Given the description of an element on the screen output the (x, y) to click on. 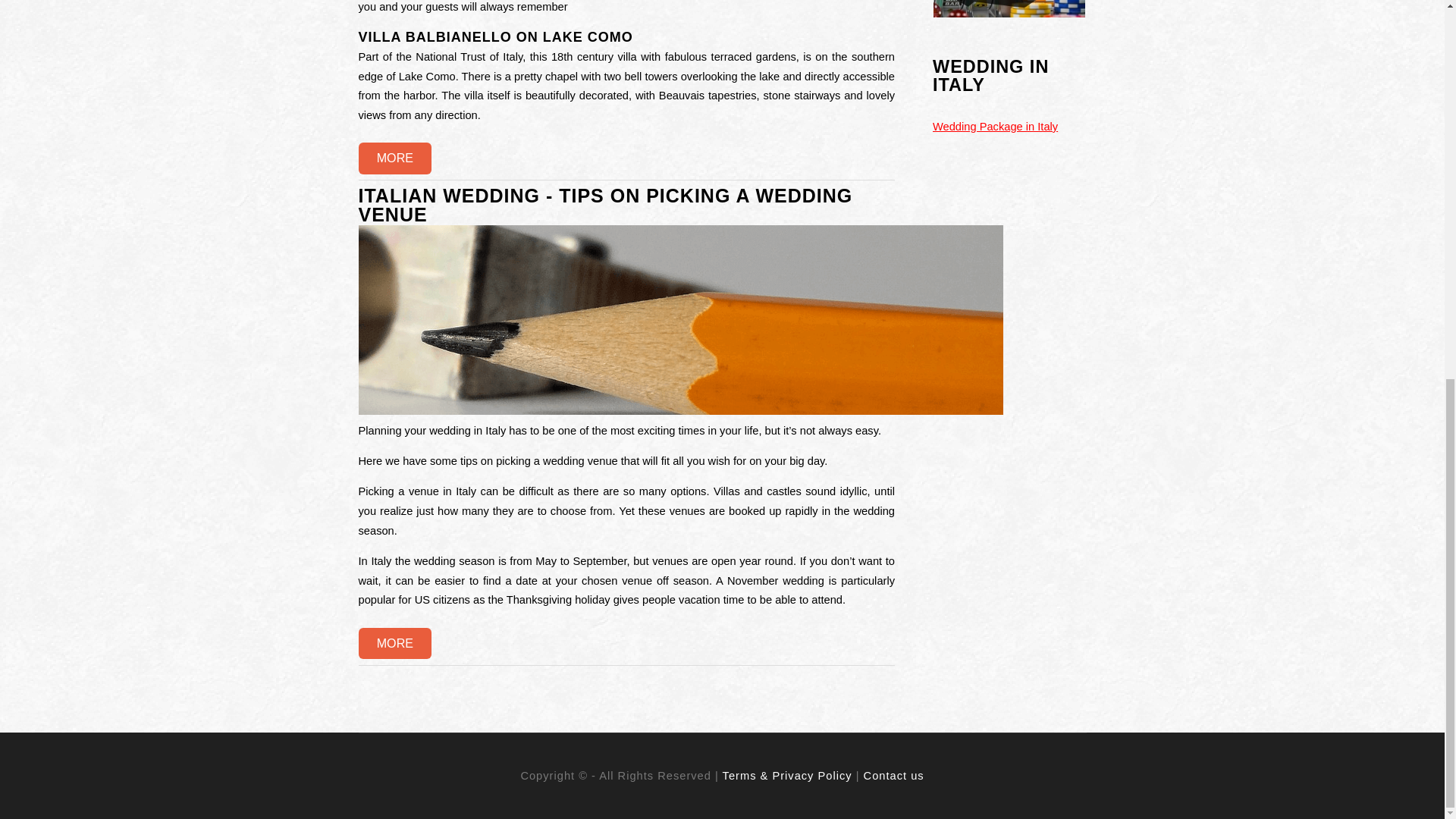
ITALIAN WEDDING - TIPS ON PICKING A WEDDING VENUE (604, 205)
Wedding Package in Italy (995, 126)
MORE (394, 158)
Contact us (893, 775)
MORE (394, 644)
